Given the description of an element on the screen output the (x, y) to click on. 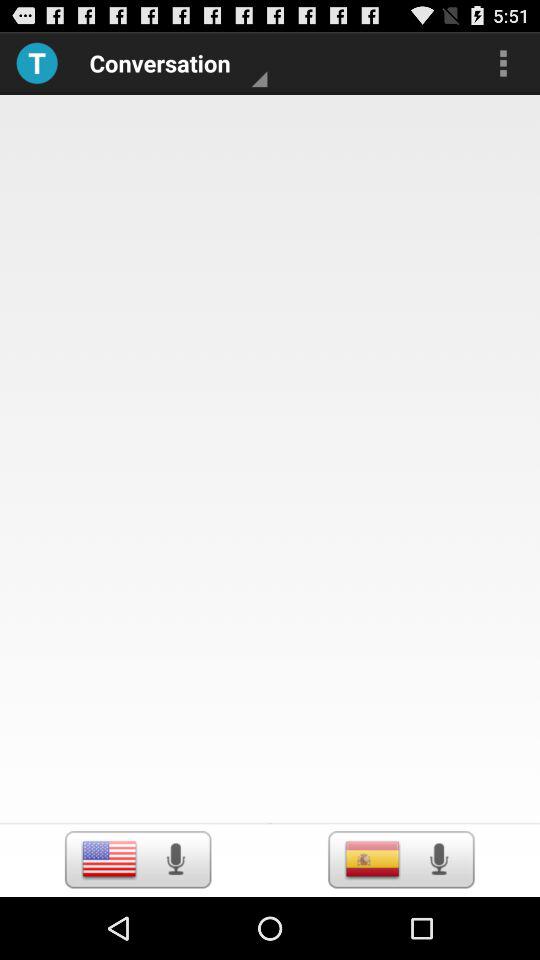
go to the sound option (438, 859)
